Given the description of an element on the screen output the (x, y) to click on. 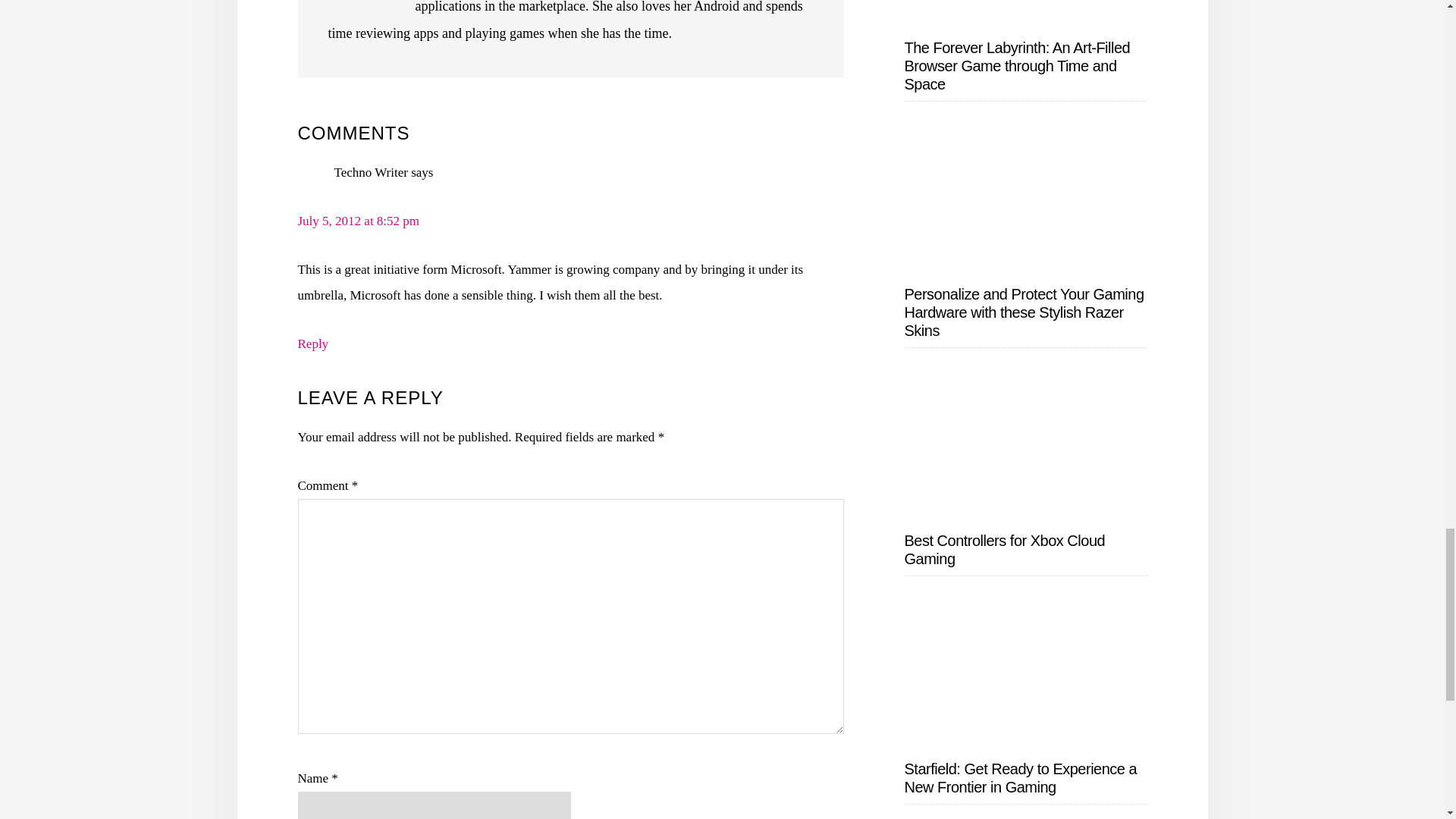
Reply (313, 343)
July 5, 2012 at 8:52 pm (358, 220)
